Given the description of an element on the screen output the (x, y) to click on. 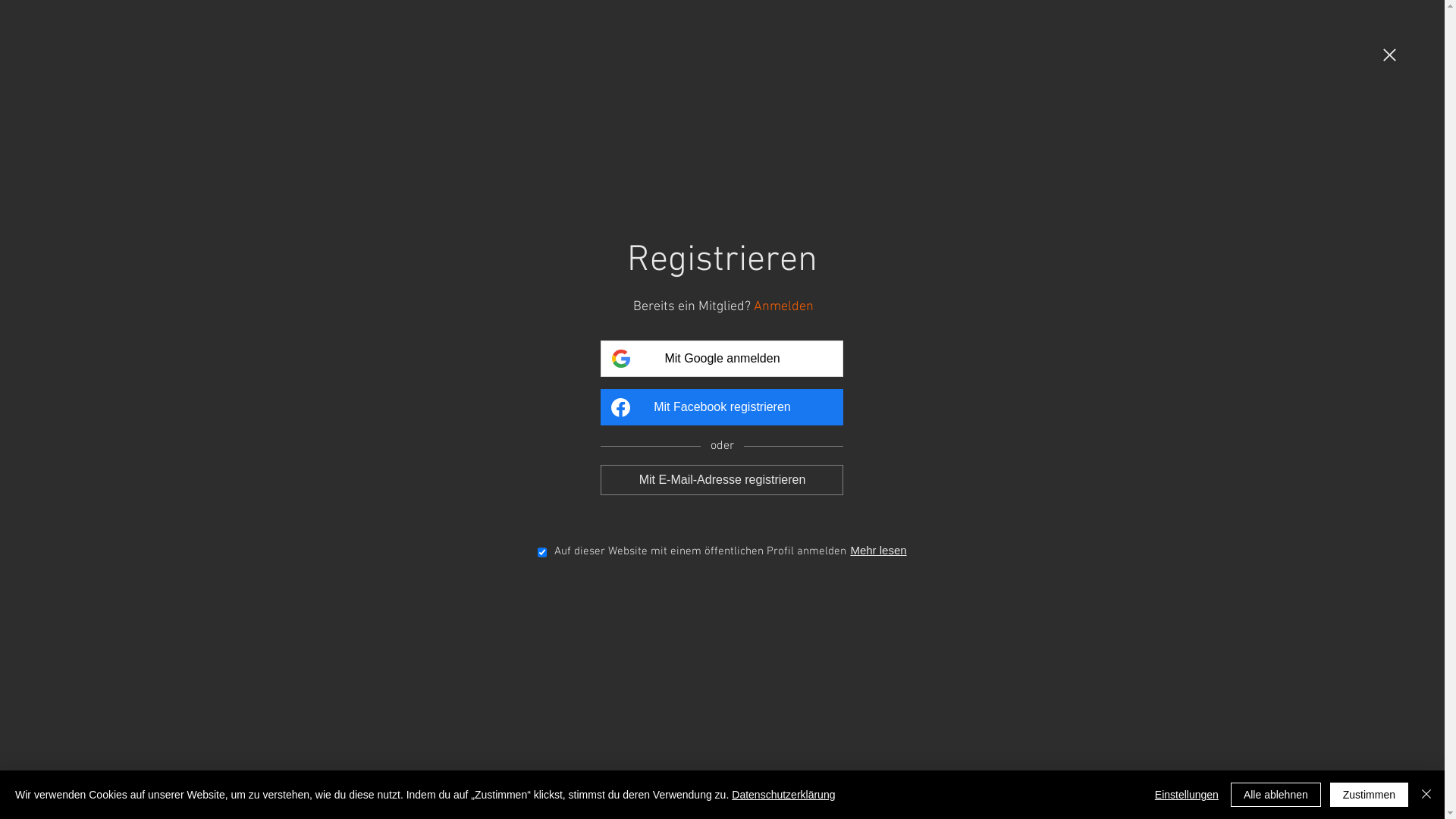
Mit Facebook registrieren Element type: text (721, 407)
Mit Google anmelden Element type: text (721, 358)
Anmelden Element type: text (783, 306)
Mit E-Mail-Adresse registrieren Element type: text (721, 479)
Mehr lesen Element type: text (878, 549)
Zustimmen Element type: text (1369, 794)
Alle ablehnen Element type: text (1275, 794)
